Given the description of an element on the screen output the (x, y) to click on. 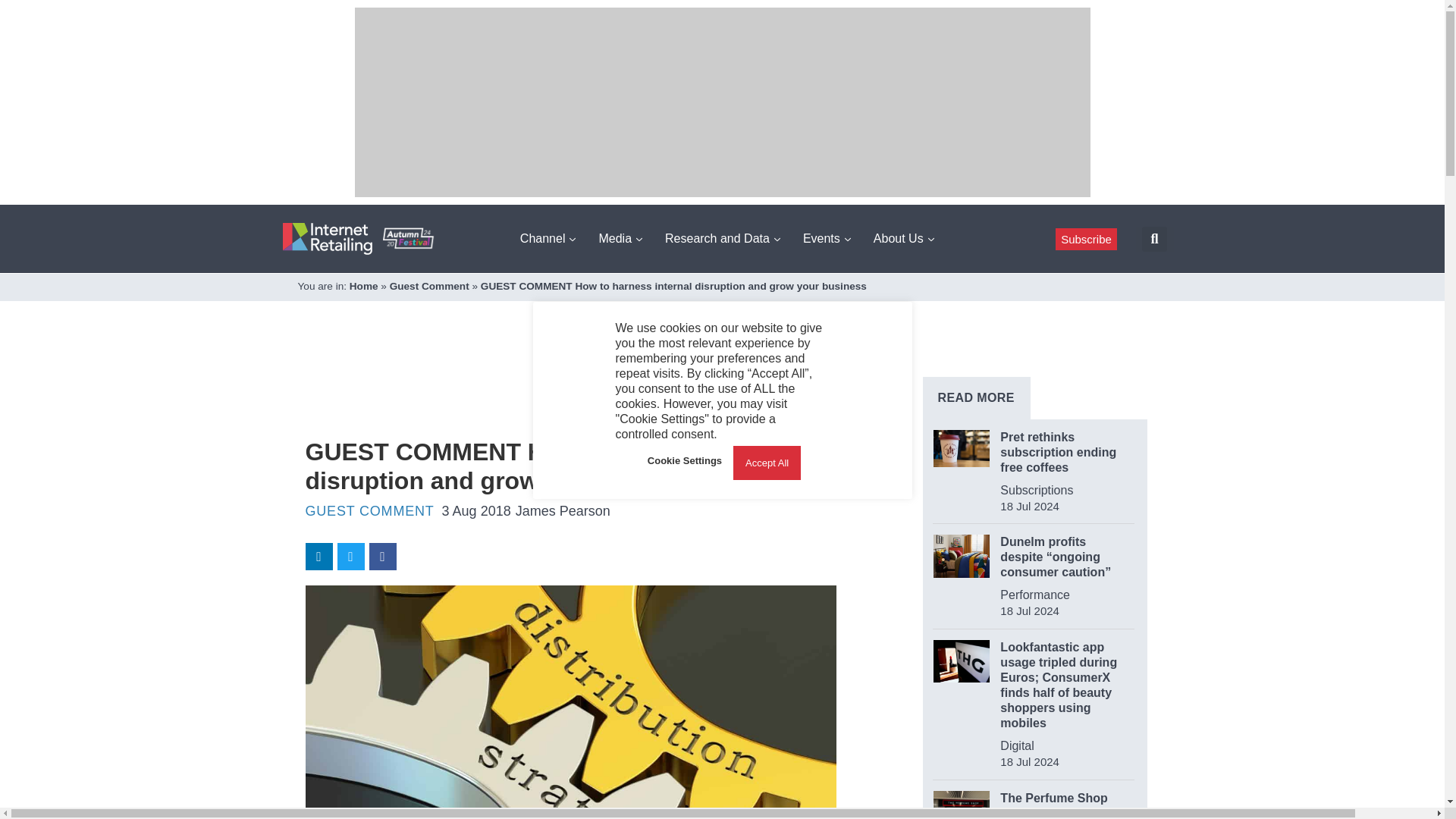
3rd party ad content (580, 387)
Channel (547, 238)
Media (620, 238)
Research and Data (722, 238)
